Given the description of an element on the screen output the (x, y) to click on. 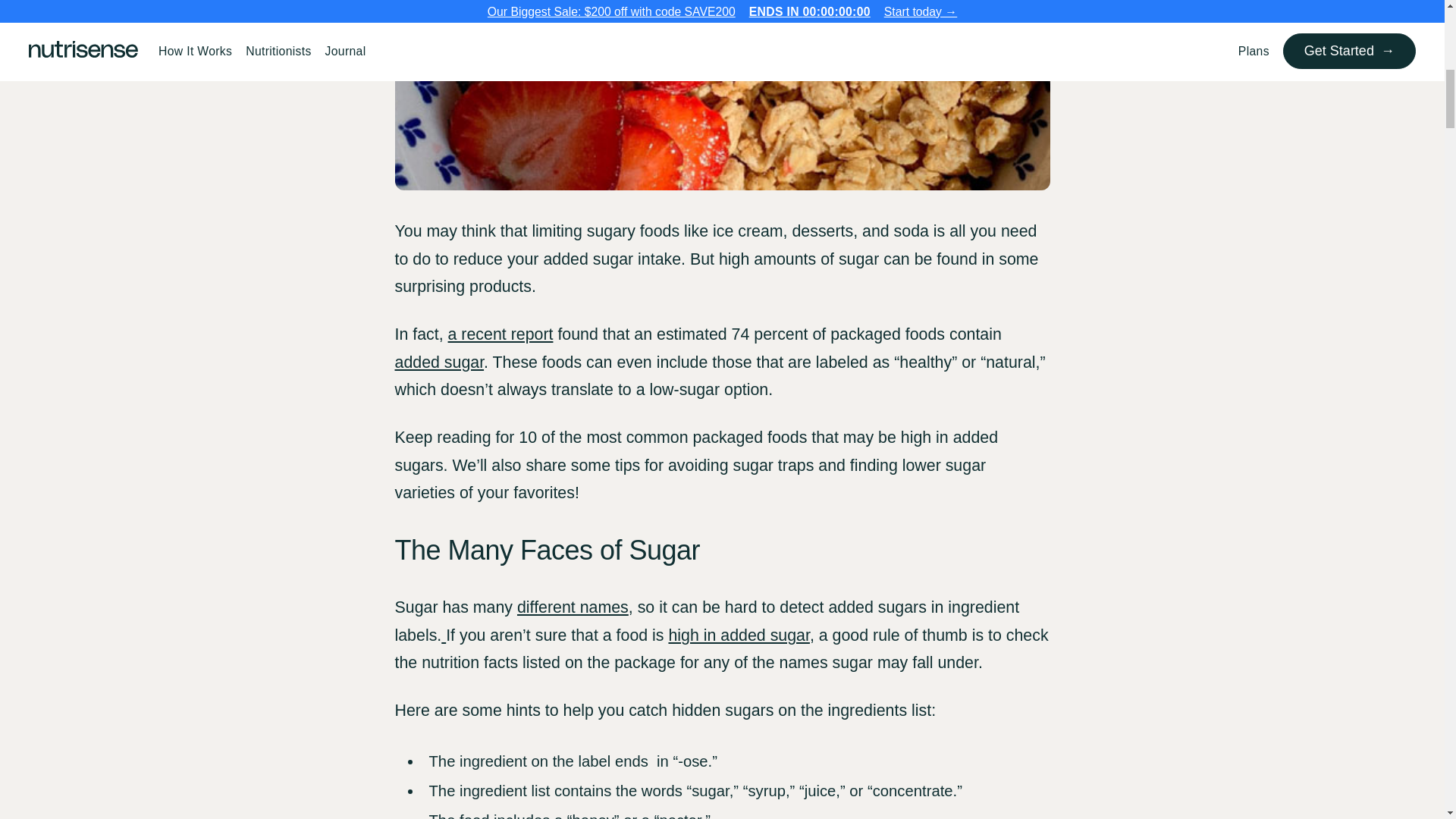
different names (572, 607)
added sugar (438, 361)
high in added sugar (738, 635)
a recent report (500, 334)
